Given the description of an element on the screen output the (x, y) to click on. 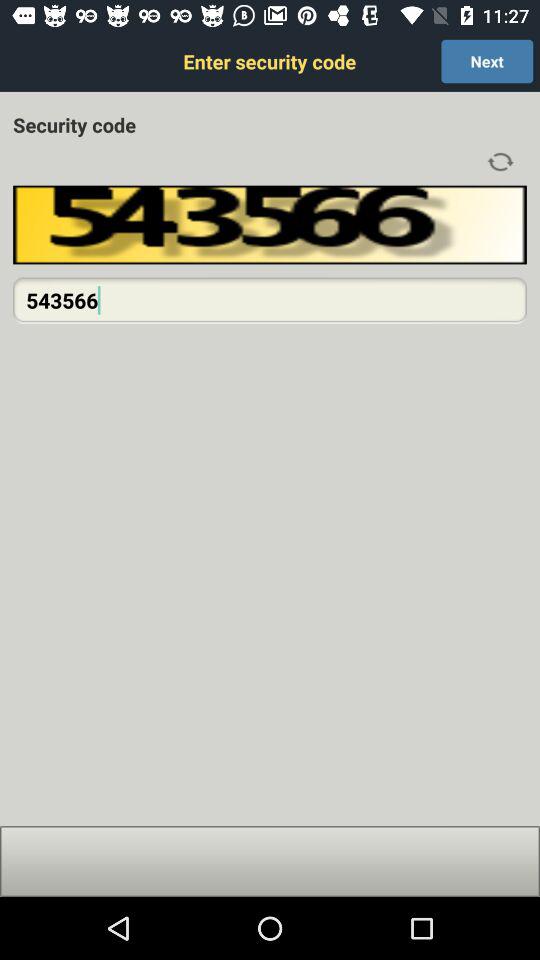
refresh (500, 161)
